Given the description of an element on the screen output the (x, y) to click on. 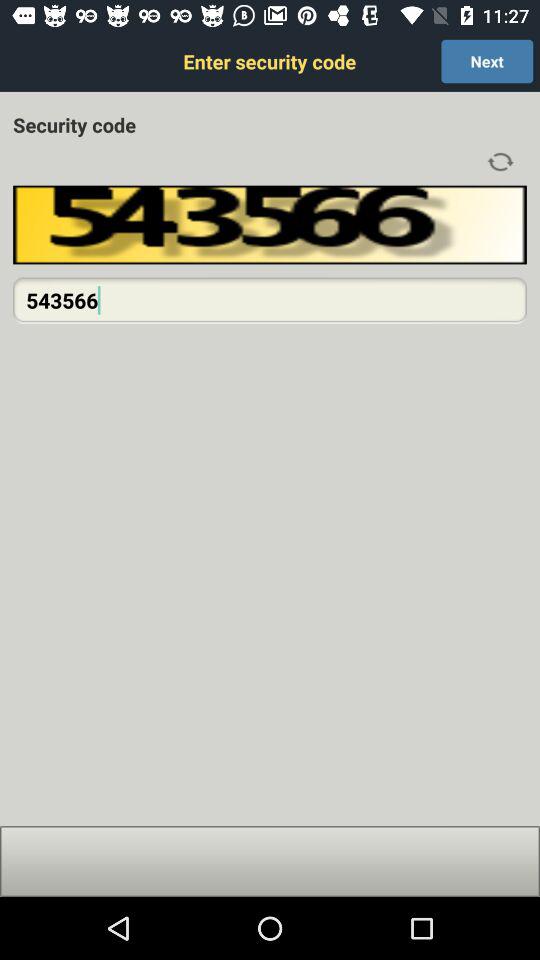
refresh (500, 161)
